Given the description of an element on the screen output the (x, y) to click on. 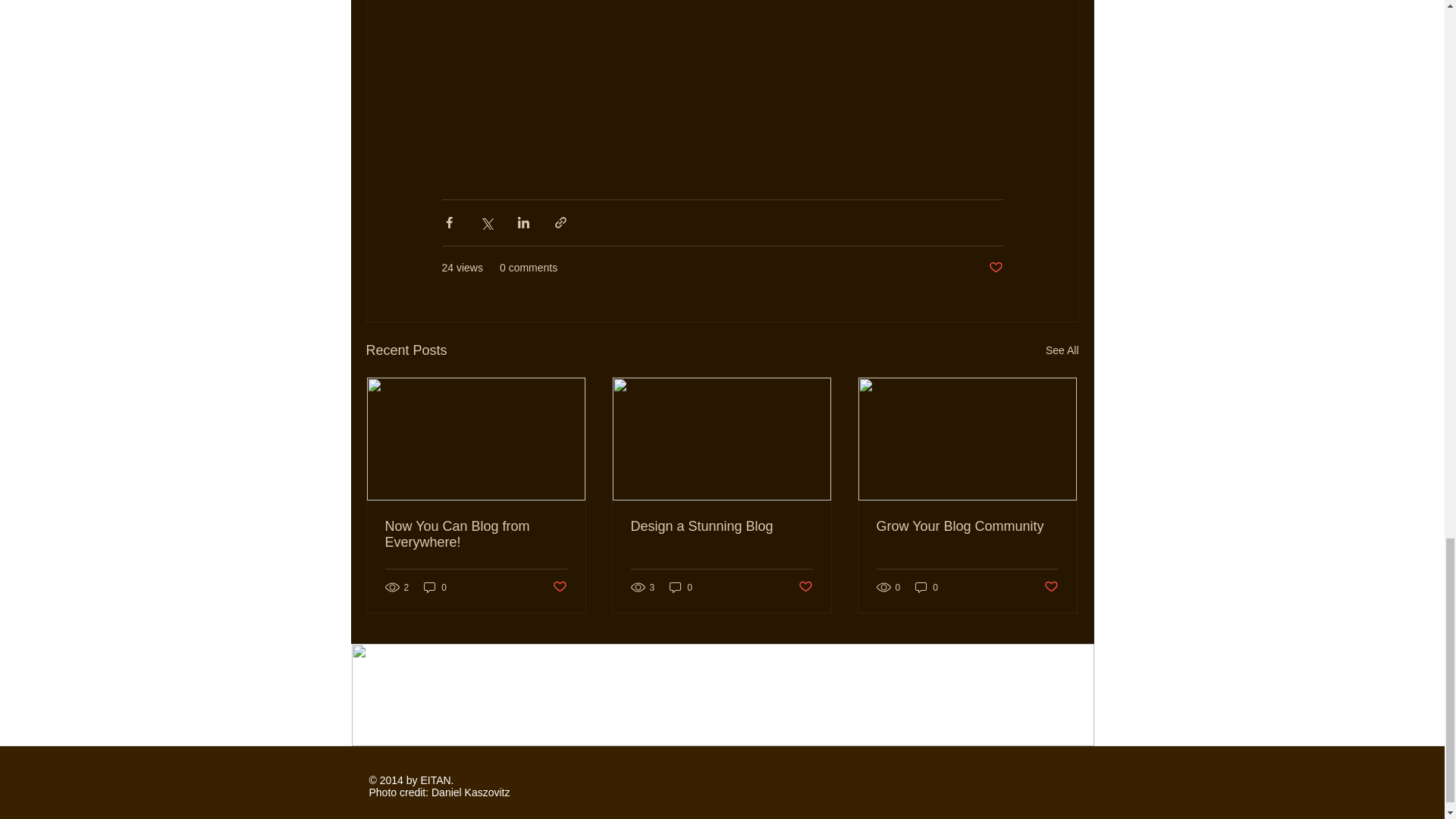
0 (435, 586)
Post not marked as liked (995, 267)
Now You Can Blog from Everywhere! (476, 534)
Post not marked as liked (558, 587)
See All (1061, 350)
card.jpg (723, 693)
